Given the description of an element on the screen output the (x, y) to click on. 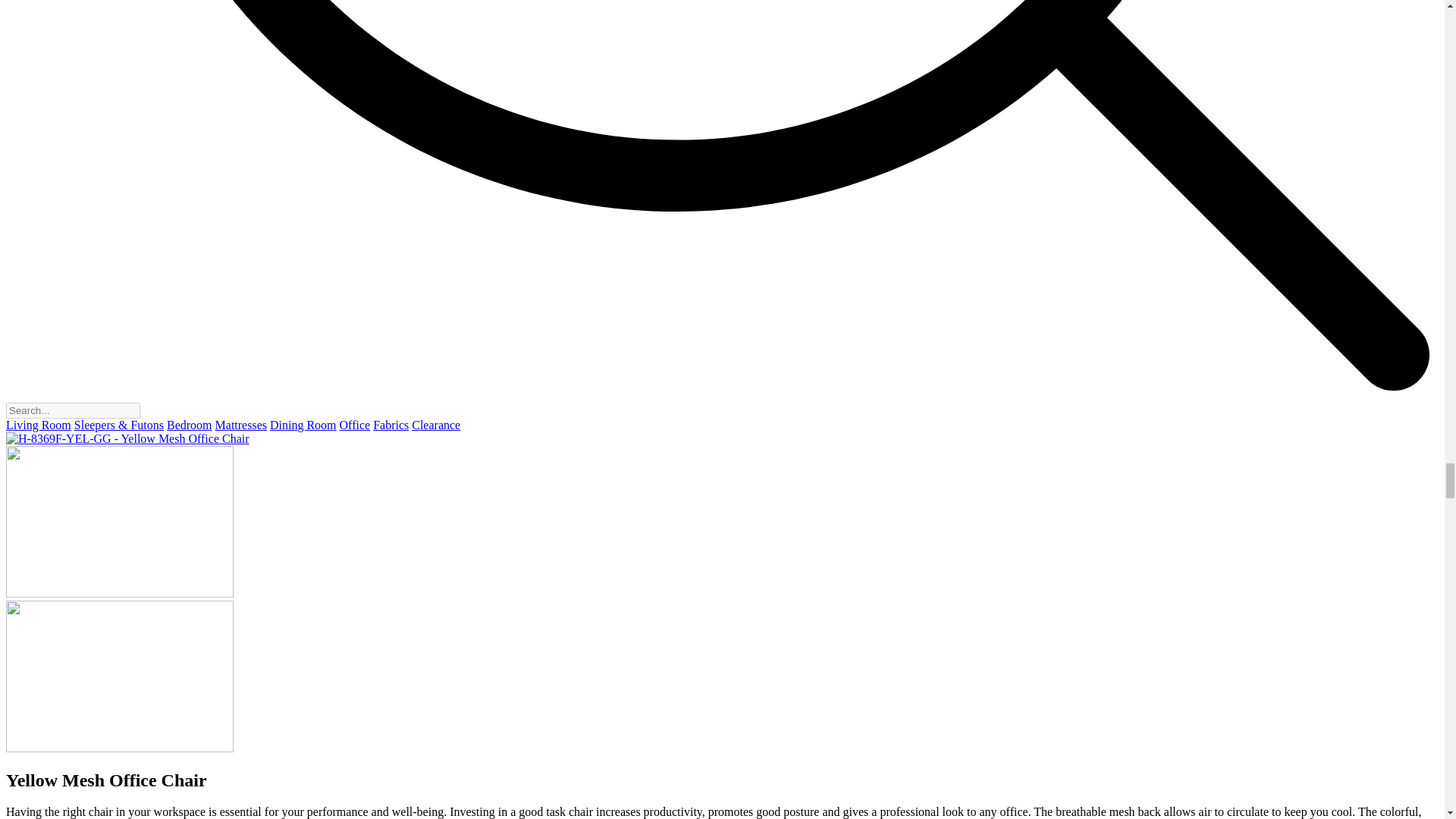
Dining Room (302, 424)
Fabrics (390, 424)
Mattresses (240, 424)
Bedroom (189, 424)
Living Room (38, 424)
Office (355, 424)
Clearance (436, 424)
